Given the description of an element on the screen output the (x, y) to click on. 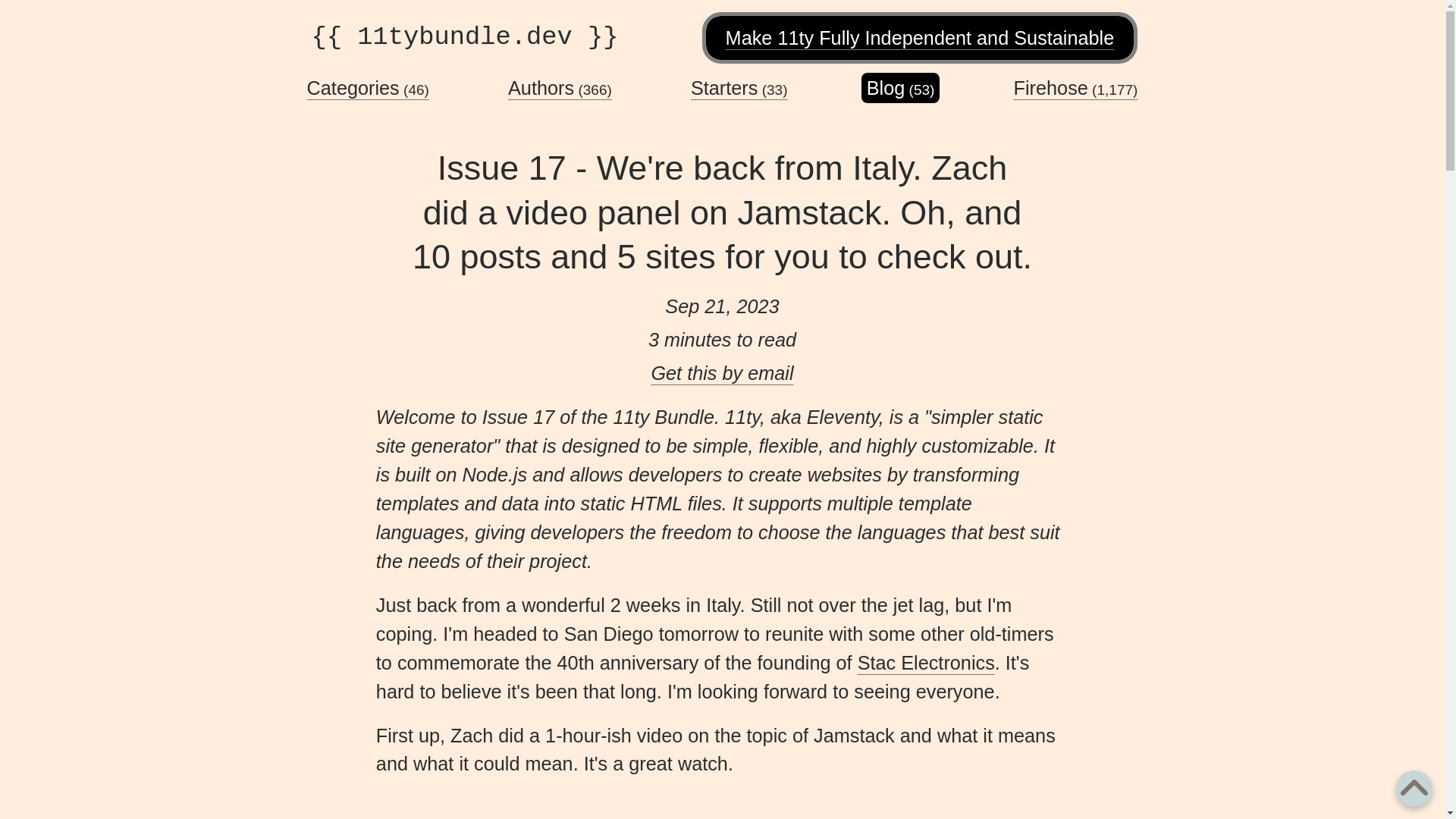
Get this by email (721, 373)
YouTube video player (489, 806)
